Given the description of an element on the screen output the (x, y) to click on. 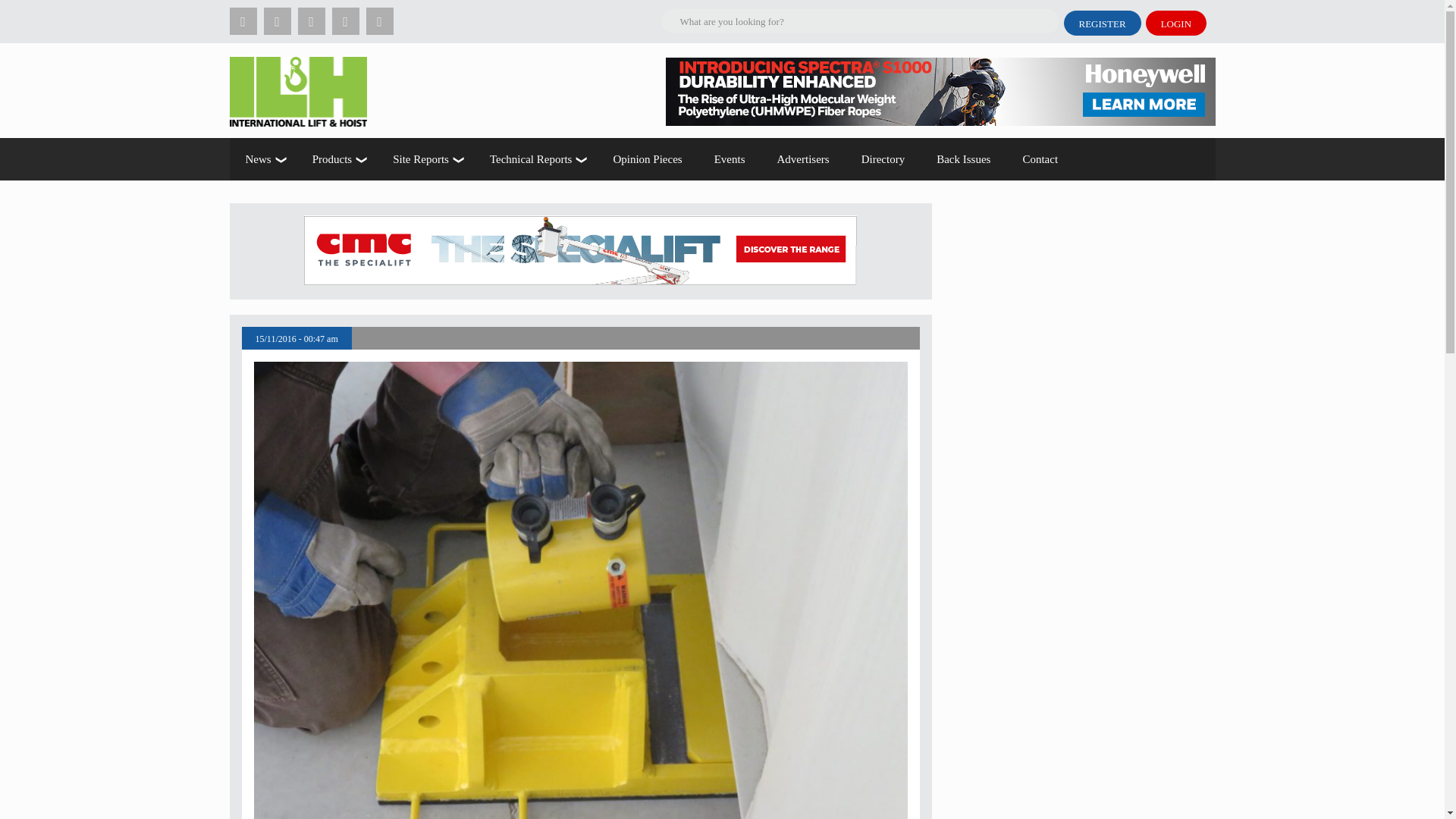
REGISTER (1101, 23)
Products (337, 159)
Search (198, 12)
Site Reports (425, 159)
LOGIN (1176, 23)
News (261, 159)
